Given the description of an element on the screen output the (x, y) to click on. 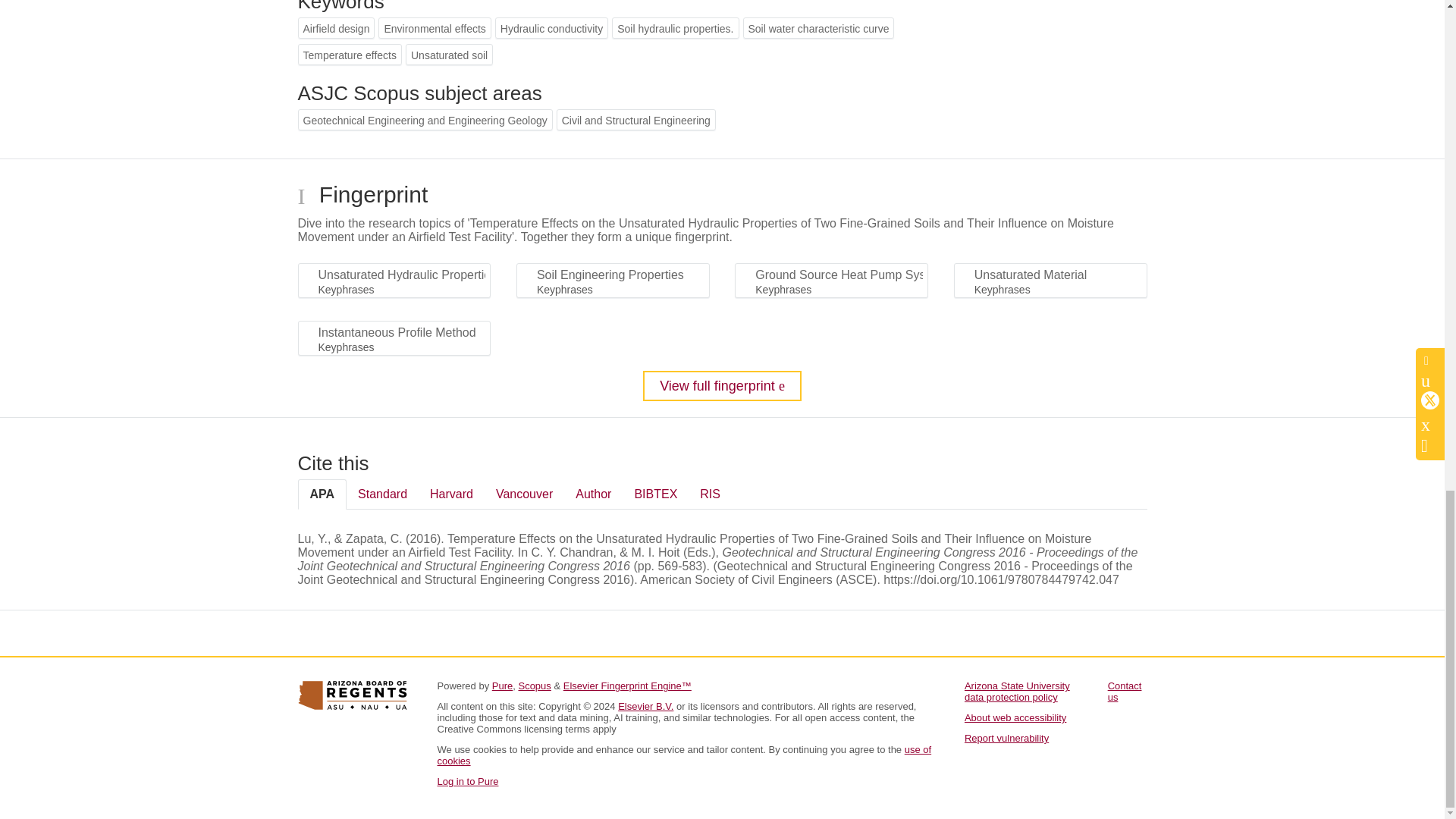
View full fingerprint (722, 386)
Pure (502, 685)
